Given the description of an element on the screen output the (x, y) to click on. 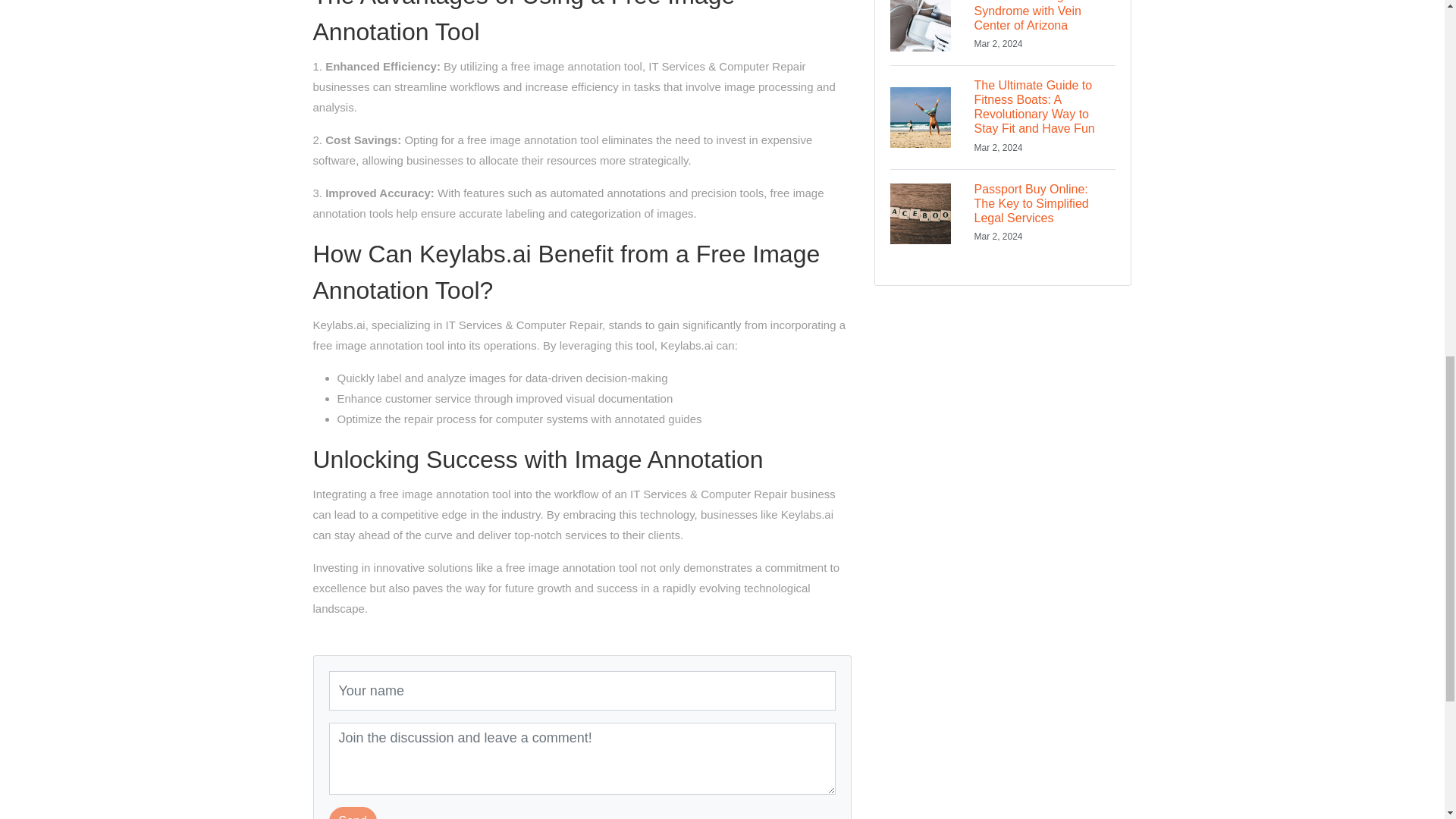
Send (353, 812)
Send (353, 812)
